Given the description of an element on the screen output the (x, y) to click on. 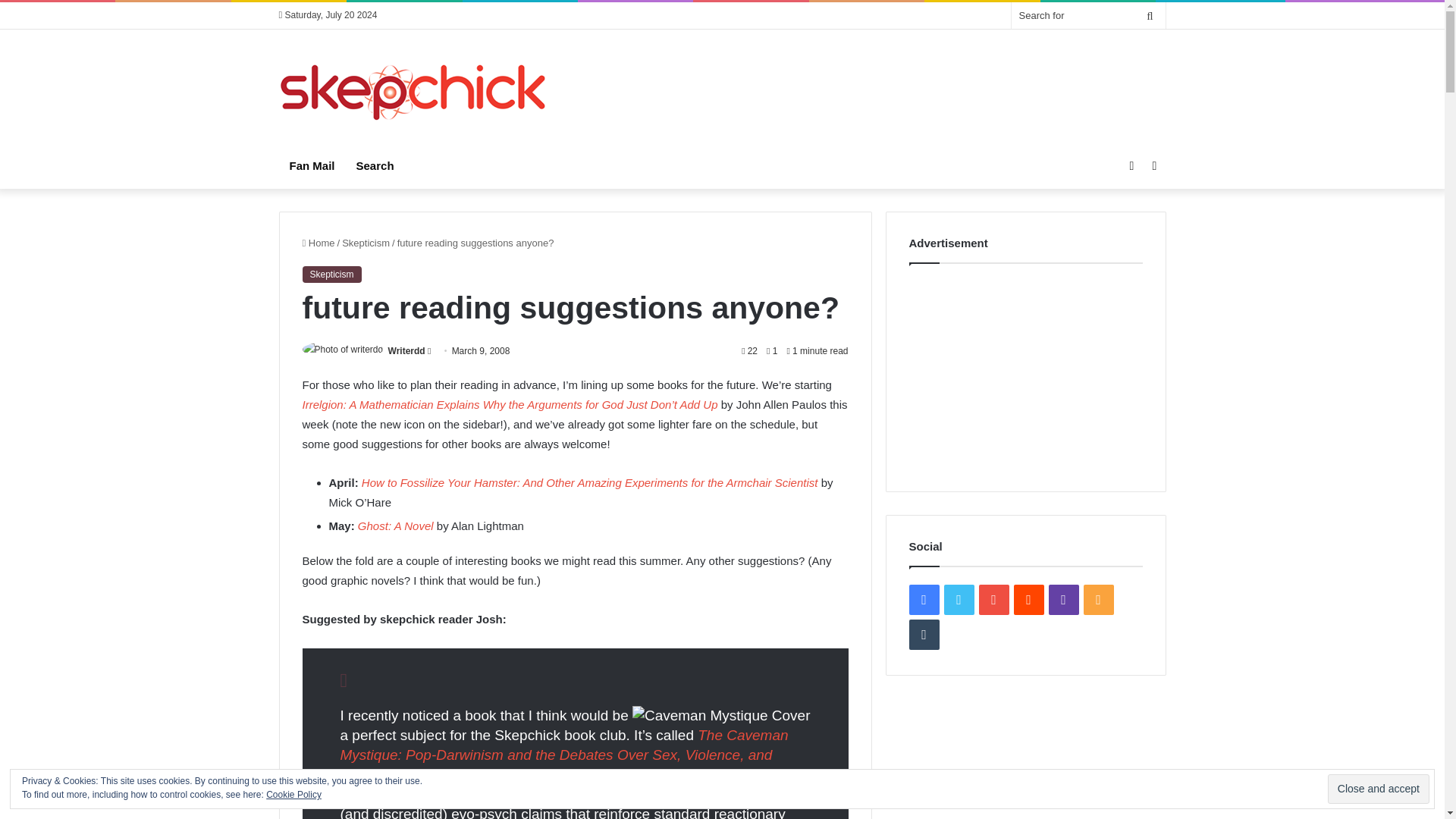
Search for (1088, 15)
Close and accept (1378, 788)
Search for (1150, 15)
Writerdd (406, 350)
Skepchick (414, 91)
Fan Mail (312, 166)
Home (317, 242)
Skepticism (331, 274)
Advertisement (873, 79)
Writerdd (406, 350)
Search (375, 166)
Ghost: A Novel (395, 525)
Skepticism (366, 242)
